Given the description of an element on the screen output the (x, y) to click on. 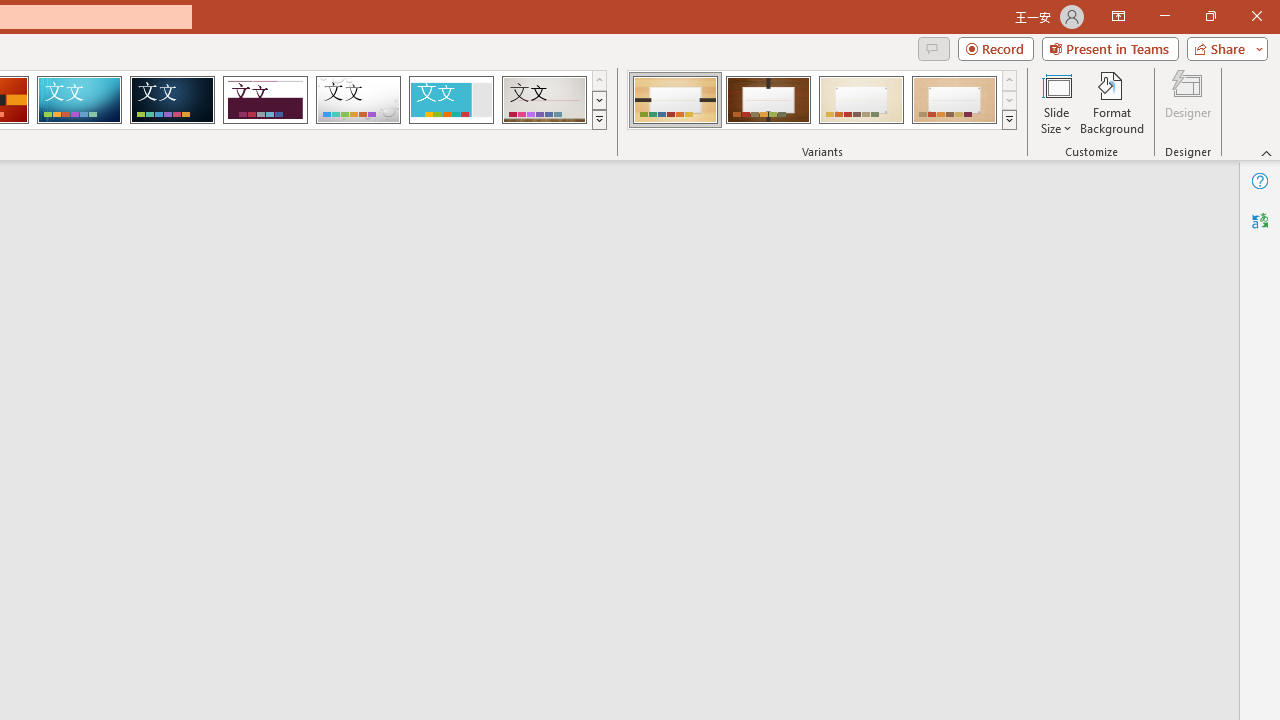
Format Background (1111, 102)
